Given the description of an element on the screen output the (x, y) to click on. 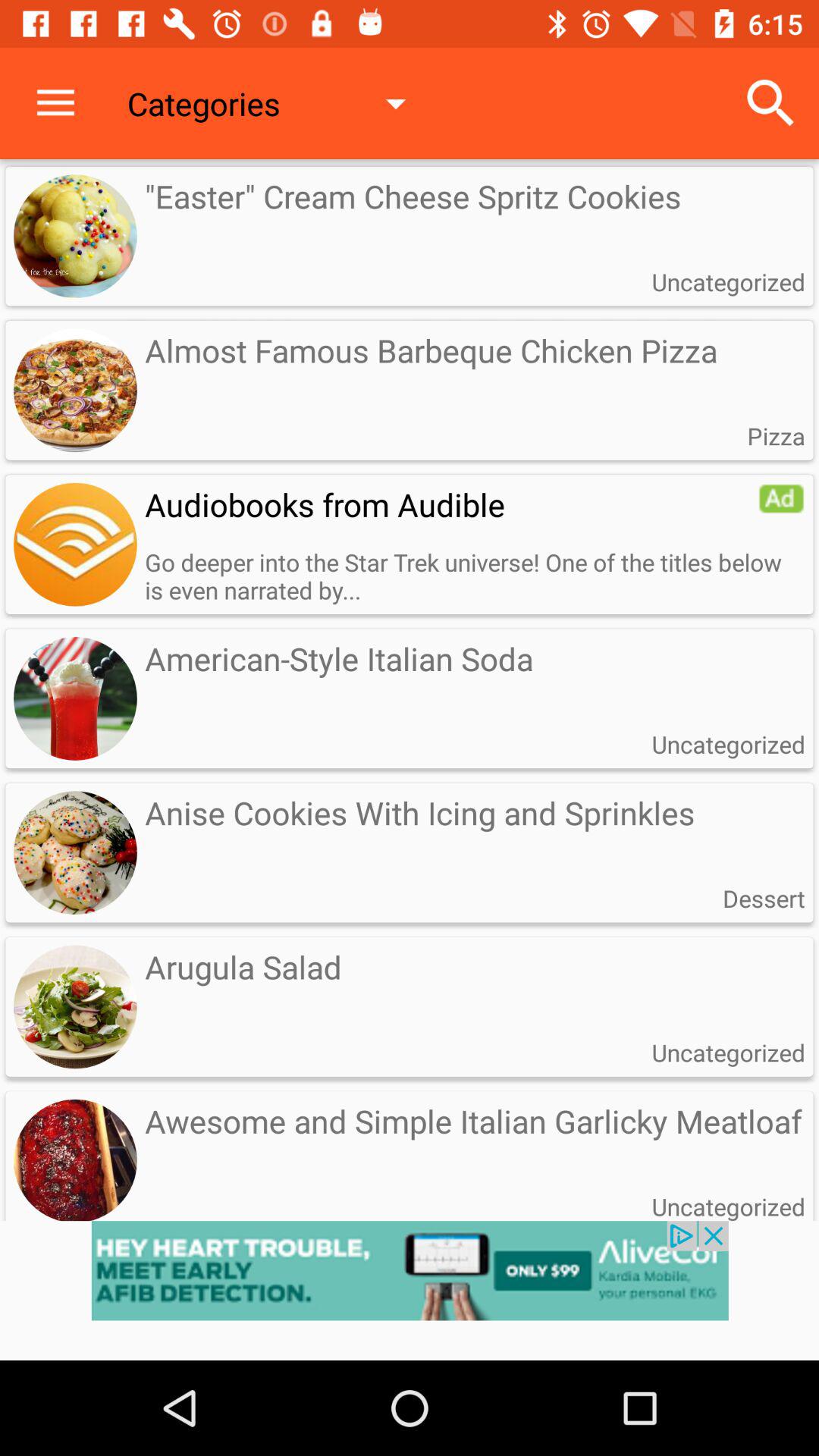
opens the advertisement (409, 1290)
